Given the description of an element on the screen output the (x, y) to click on. 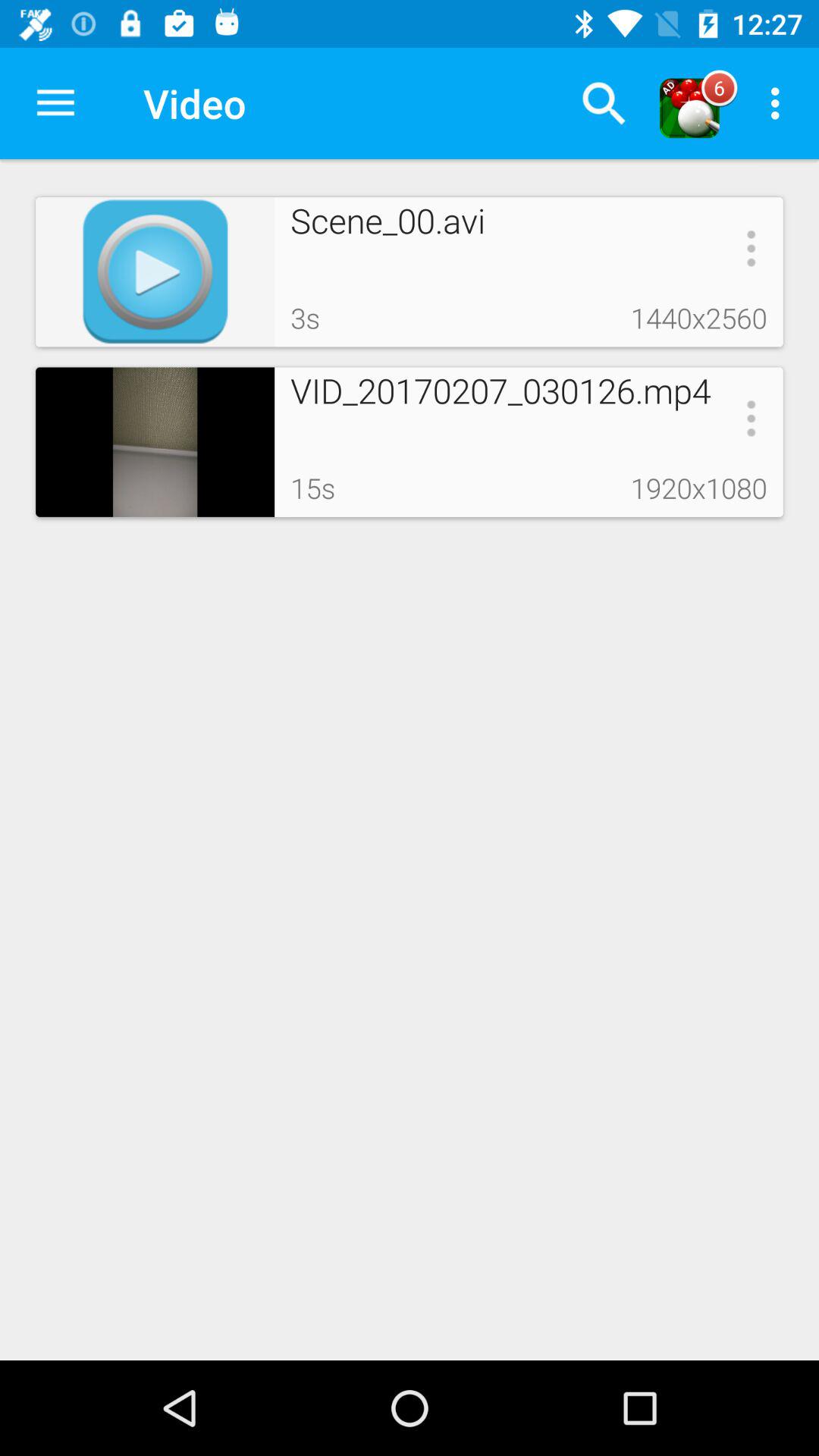
turn on the icon next to the video icon (603, 103)
